Given the description of an element on the screen output the (x, y) to click on. 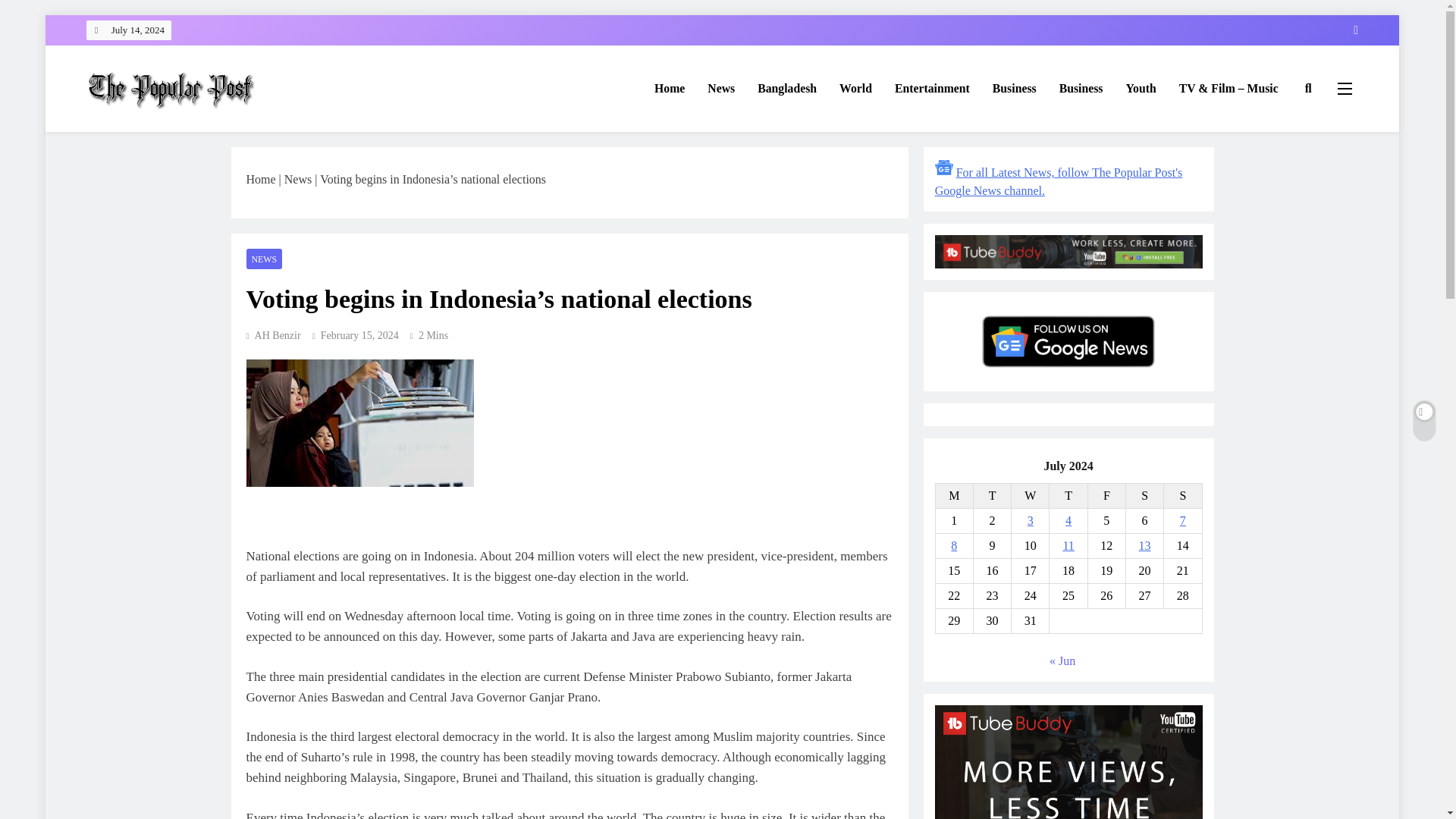
NEWS (264, 258)
Home (669, 87)
Tuesday (991, 495)
Saturday (1144, 495)
Sunday (1182, 495)
Home (260, 178)
News (297, 178)
AH Benzir (272, 335)
Business (1081, 87)
Youth (1140, 87)
